Given the description of an element on the screen output the (x, y) to click on. 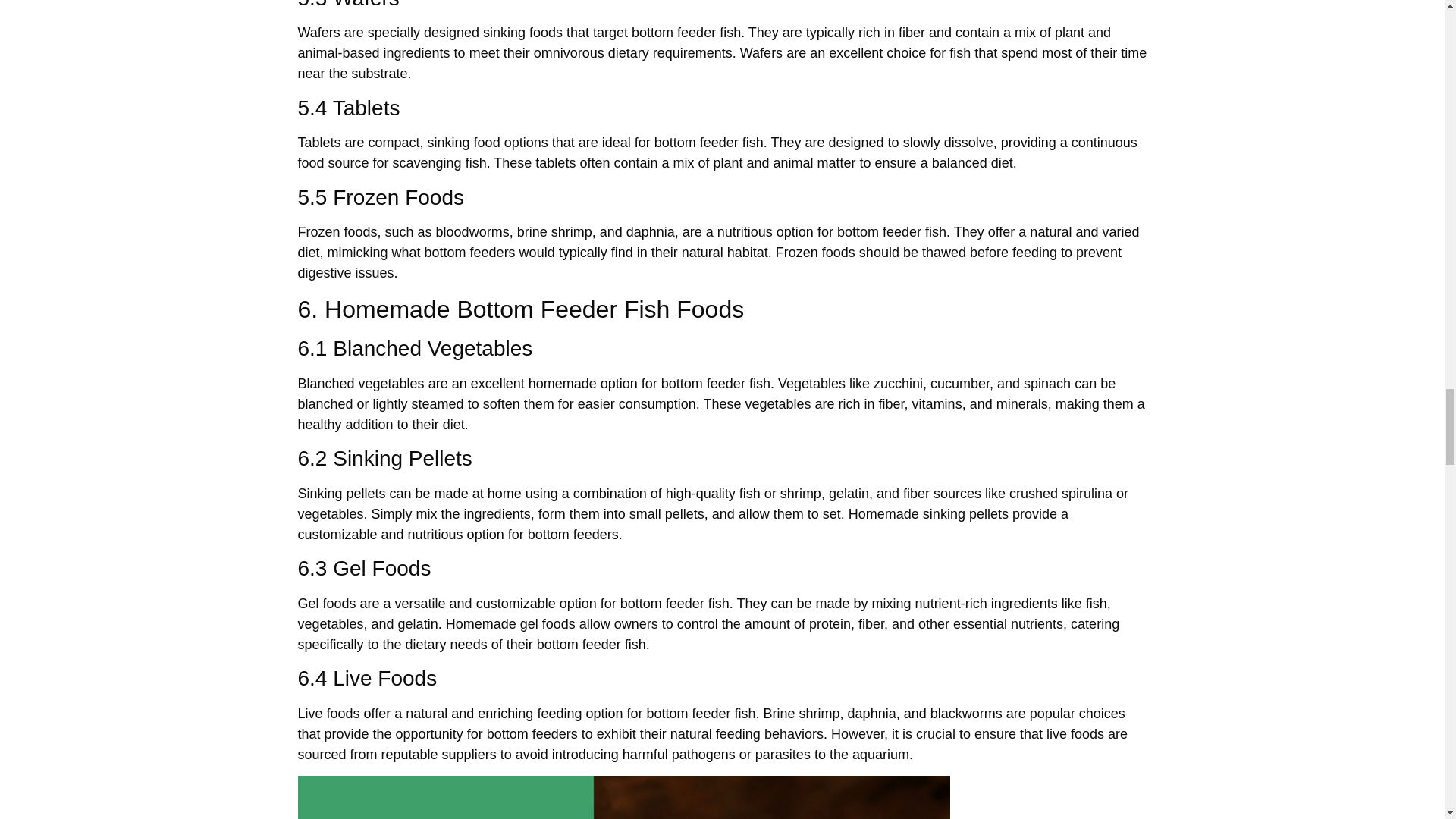
The Ultimate Guide to Bottom Feeder Fish Food (623, 797)
